Given the description of an element on the screen output the (x, y) to click on. 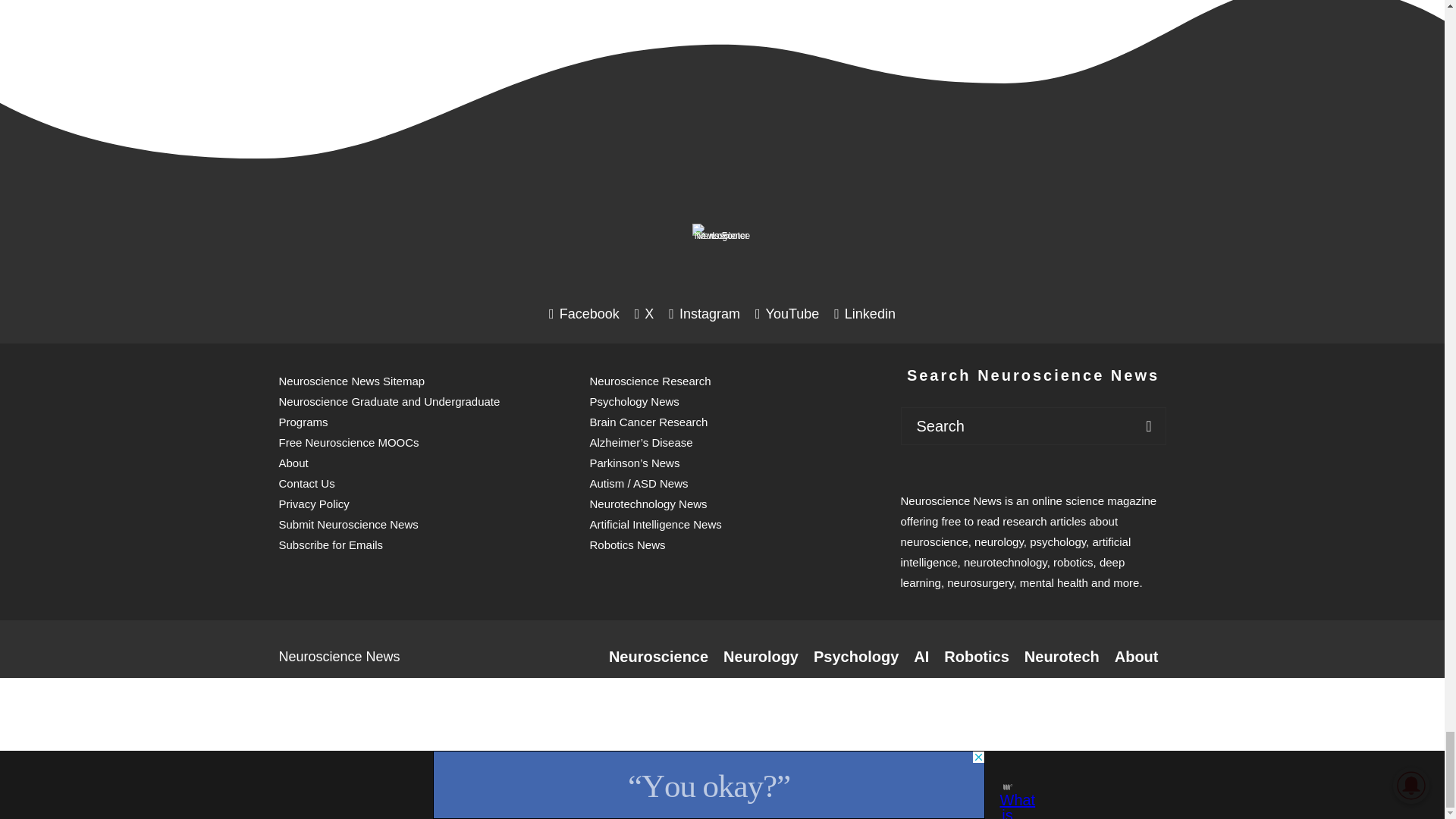
Neuroscience Research (657, 656)
Neurology Research Articles (760, 656)
